Given the description of an element on the screen output the (x, y) to click on. 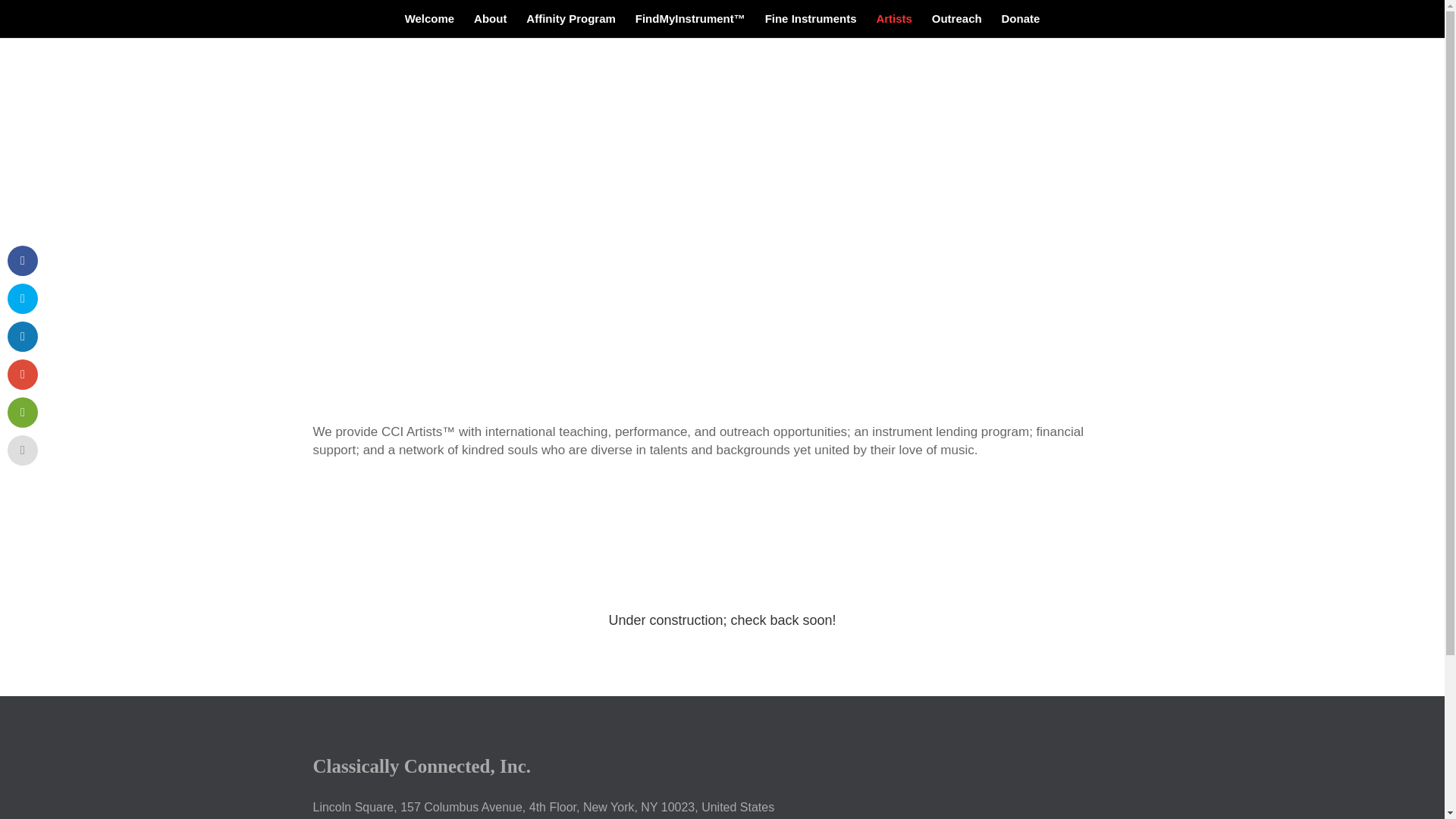
Welcome (429, 25)
Donate (1021, 25)
Outreach (956, 25)
Fine Instruments (811, 25)
Artists (894, 25)
About (490, 25)
Affinity Program (570, 25)
